Given the description of an element on the screen output the (x, y) to click on. 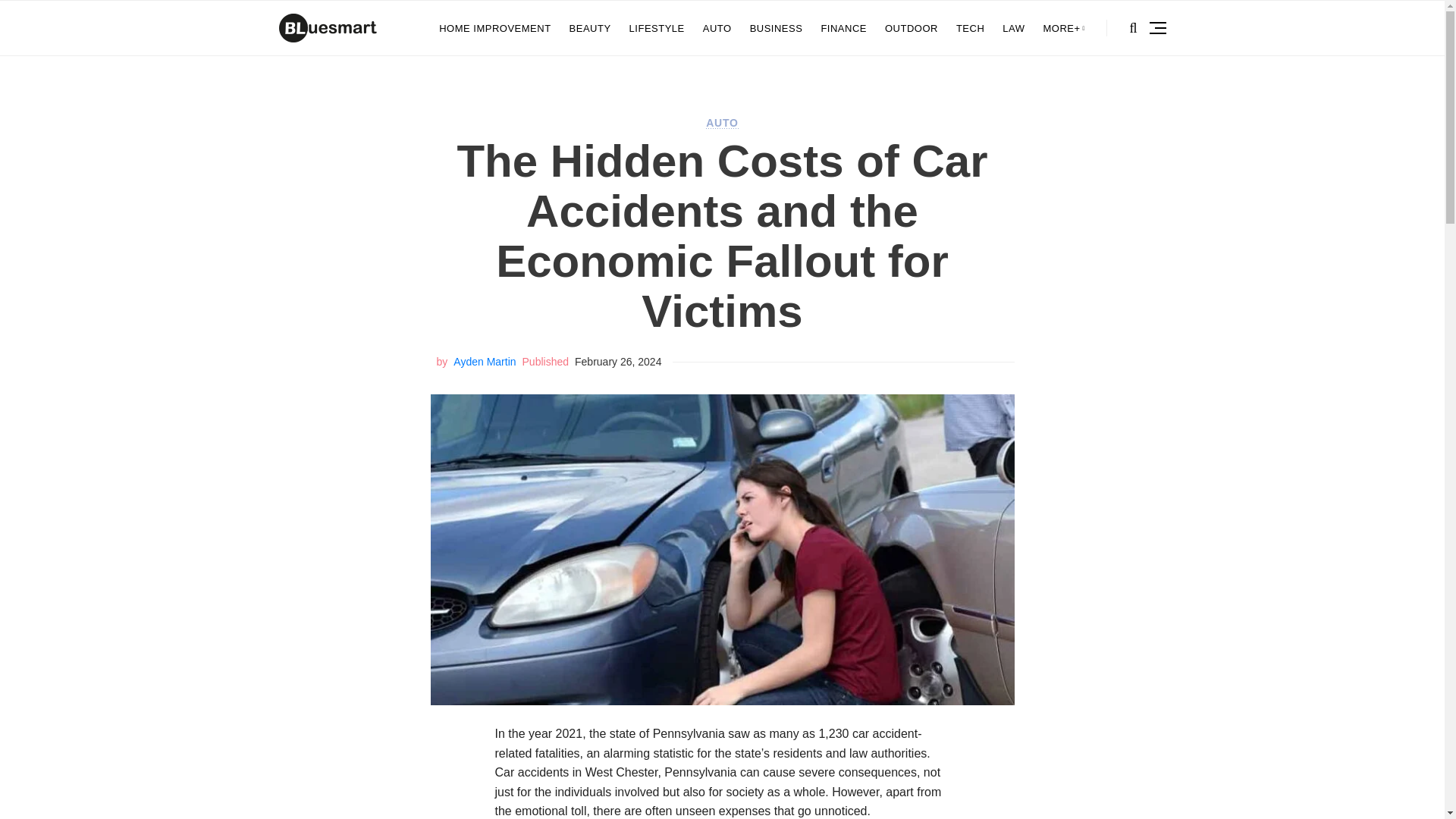
HOME IMPROVEMENT (494, 27)
Posts by Ayden Martin (483, 361)
OUTDOOR (911, 27)
Ayden Martin (483, 361)
LIFESTYLE (657, 27)
FINANCE (843, 27)
AUTO (722, 122)
BEAUTY (590, 27)
BUSINESS (776, 27)
